Given the description of an element on the screen output the (x, y) to click on. 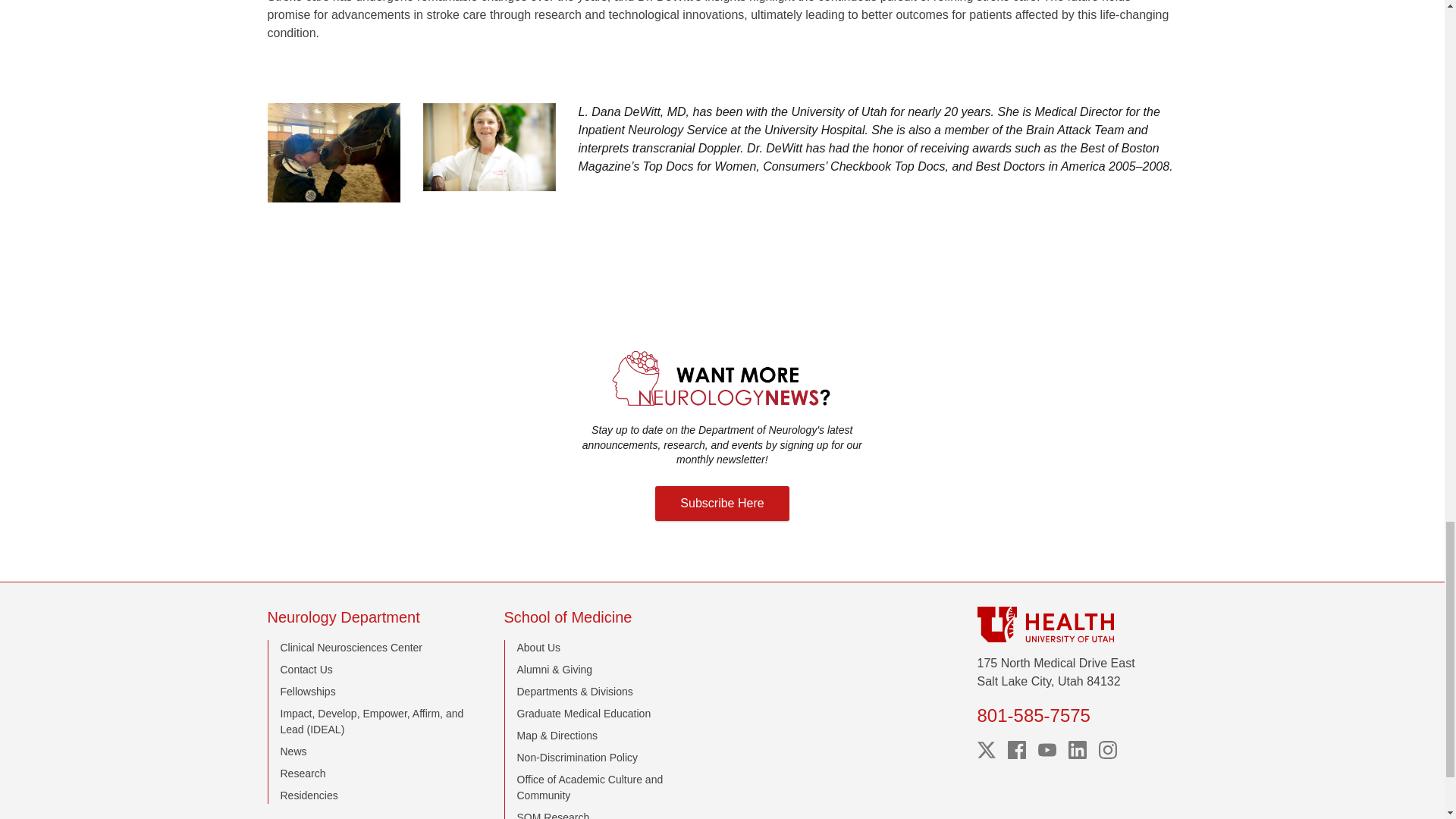
News (294, 751)
Residencies (309, 795)
Graduate Medical Education (583, 713)
Research (303, 773)
SOM Research (552, 815)
Fellowships (308, 691)
Subscribe Here (722, 503)
About Us (538, 647)
Non-Discrimination Policy (577, 757)
Contact Us (307, 669)
